Given the description of an element on the screen output the (x, y) to click on. 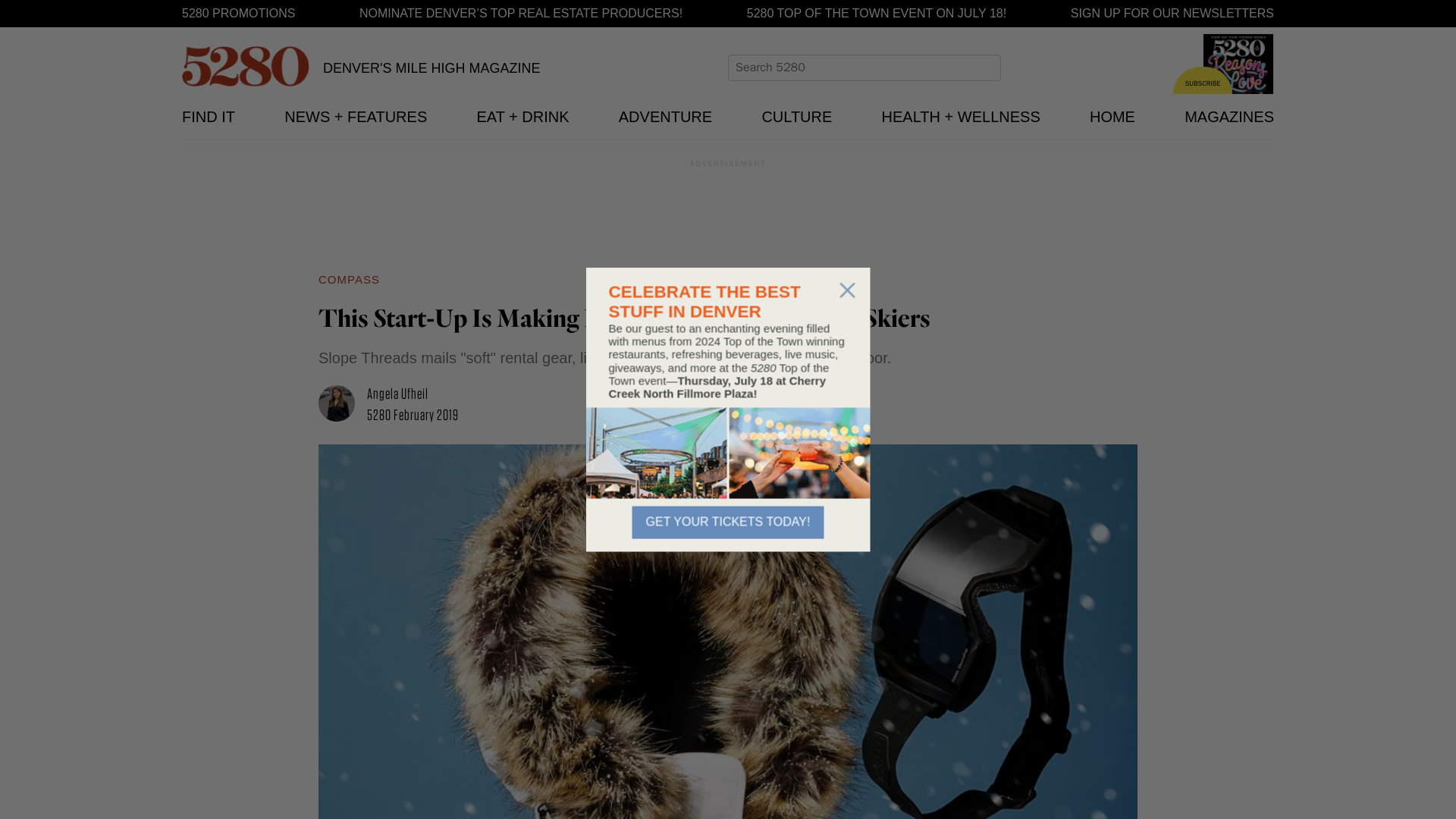
SUBSCRIBE (1202, 80)
5280 Magazine (245, 65)
ADVENTURE (664, 116)
5280 PROMOTIONS (238, 13)
3rd party ad content (727, 210)
SIGN UP FOR OUR NEWSLETTERS (1172, 13)
FIND IT (208, 116)
View Author Archive (342, 404)
5280 TOP OF THE TOWN EVENT ON JULY 18! (876, 13)
Angela Ufheil's Archive (397, 393)
Popup CTA (727, 408)
